Given the description of an element on the screen output the (x, y) to click on. 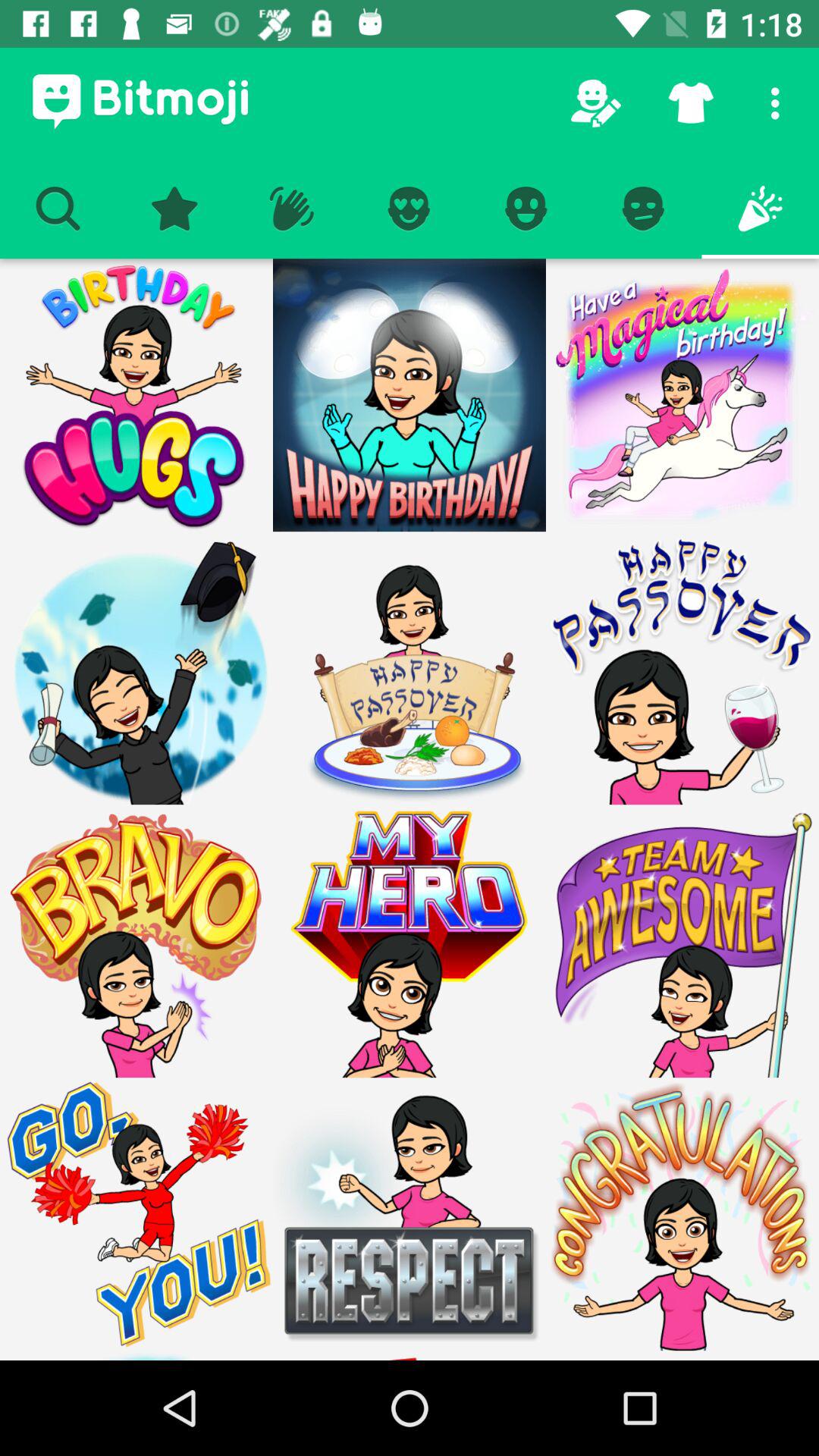
this image was graduate happiness (136, 667)
